Given the description of an element on the screen output the (x, y) to click on. 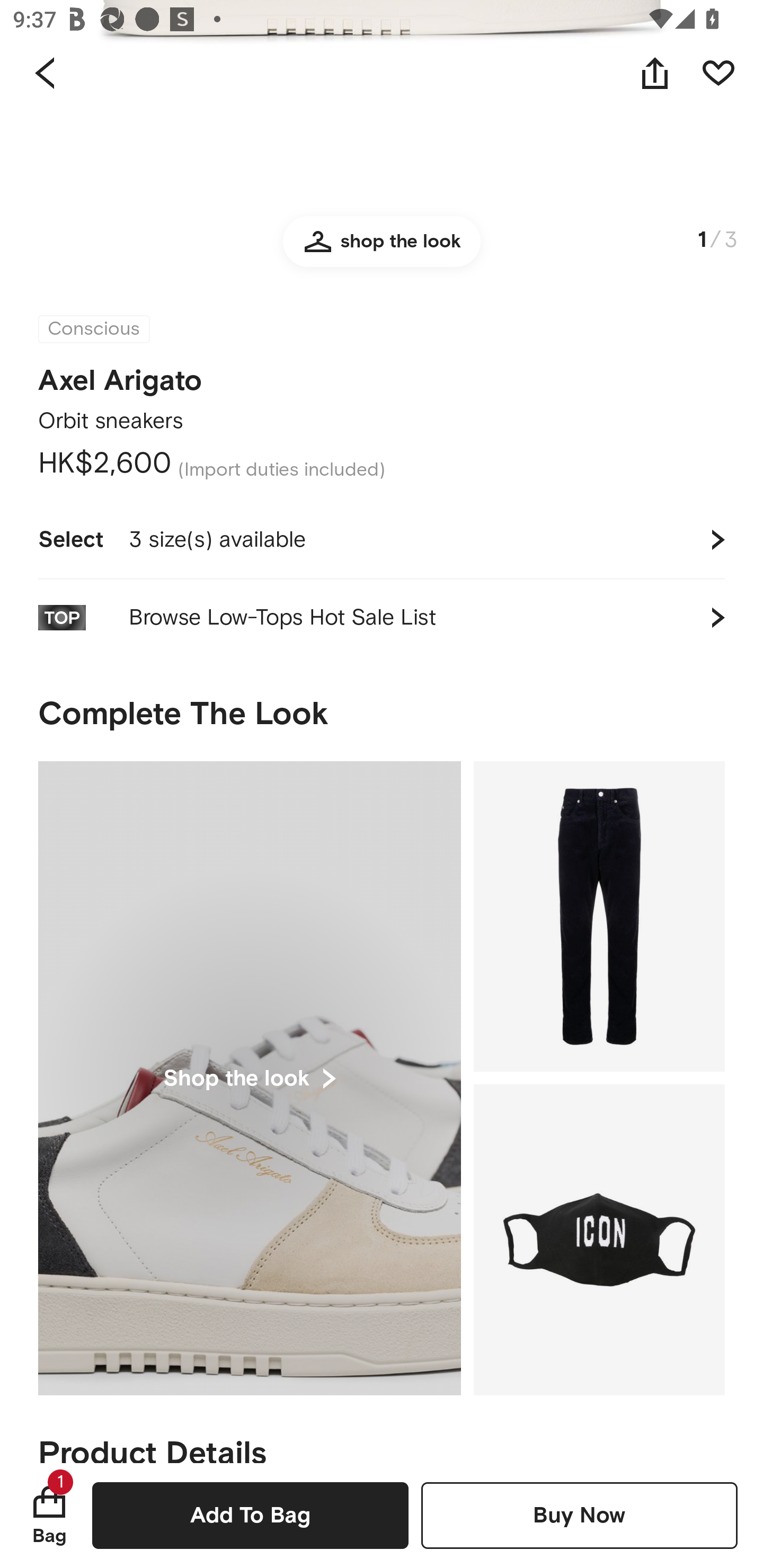
shop the look (381, 249)
Axel Arigato (120, 381)
Select 3 size(s) available (381, 539)
Browse Low-Tops Hot Sale List (381, 617)
Bag 1 (49, 1515)
Add To Bag (250, 1515)
Buy Now (579, 1515)
